Given the description of an element on the screen output the (x, y) to click on. 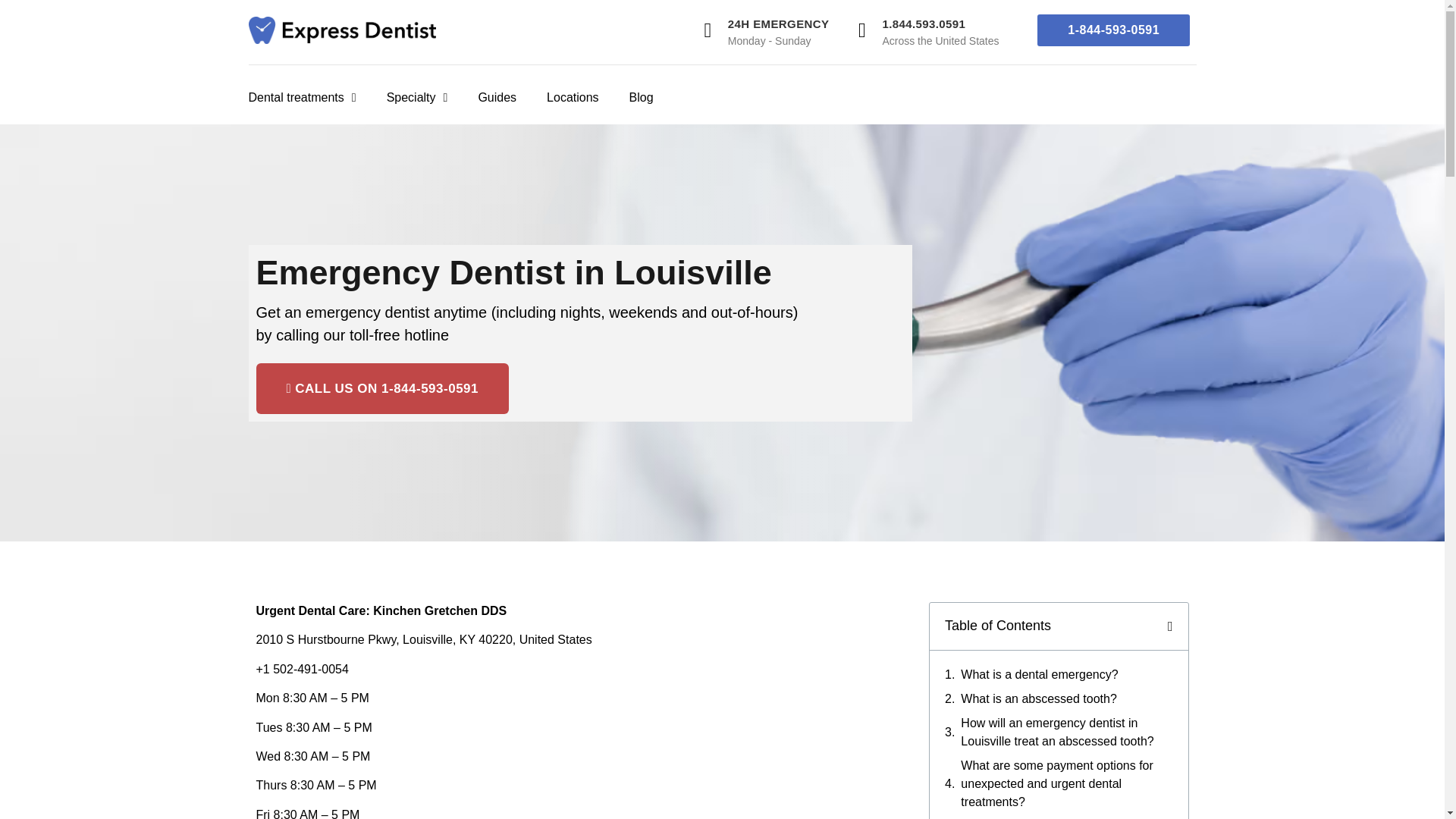
Specialty (417, 97)
Guides (496, 97)
1.844.593.0591 (923, 23)
1-844-593-0591 (1112, 29)
Locations (572, 97)
Dental treatments (302, 97)
